Given the description of an element on the screen output the (x, y) to click on. 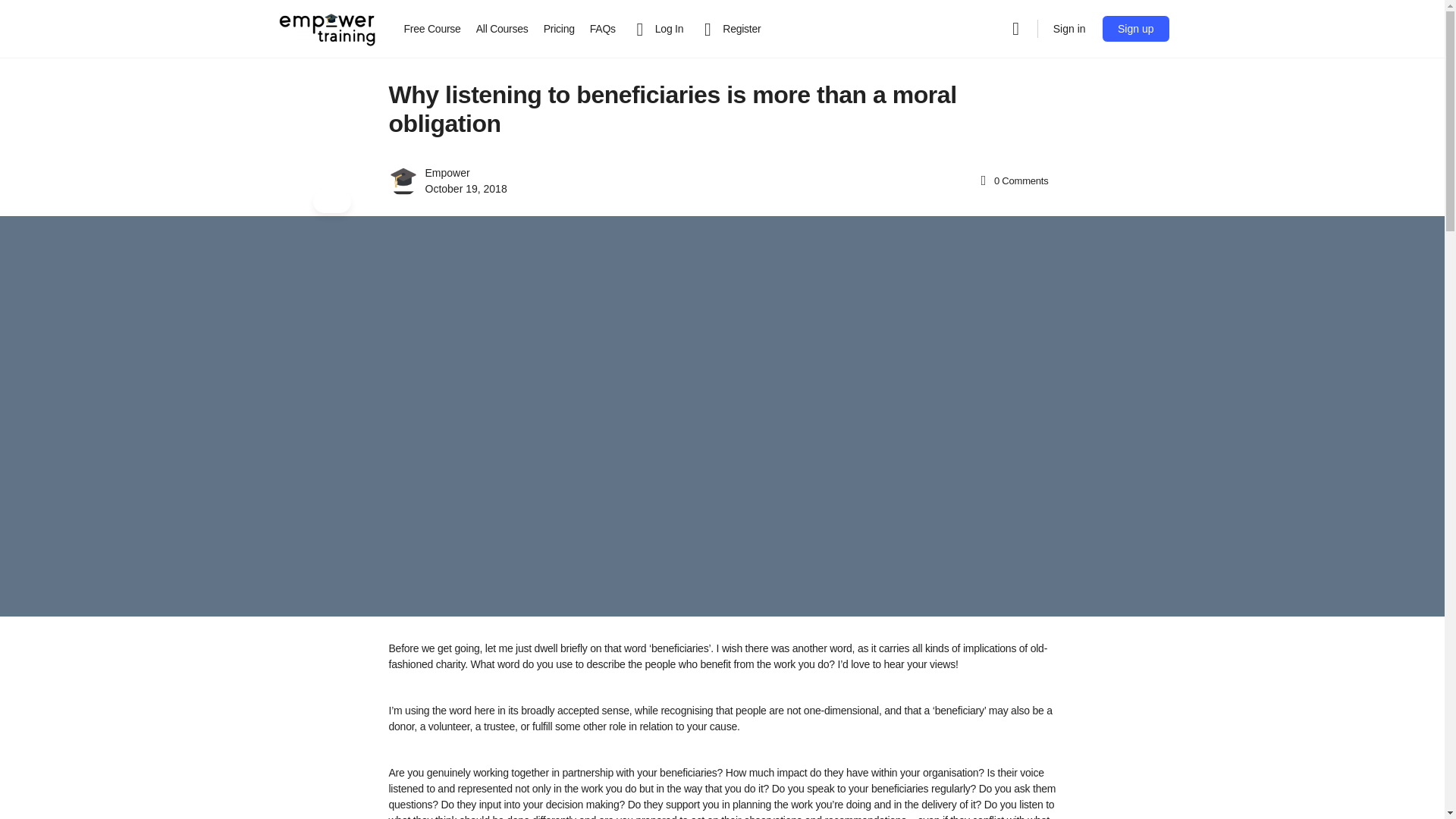
Empower (446, 173)
All Courses (502, 28)
October 19, 2018 (465, 188)
Free Course (431, 28)
Log In (656, 28)
Sign in (1068, 28)
0 Comments (1013, 180)
Sign up (1135, 28)
Register (729, 28)
